Given the description of an element on the screen output the (x, y) to click on. 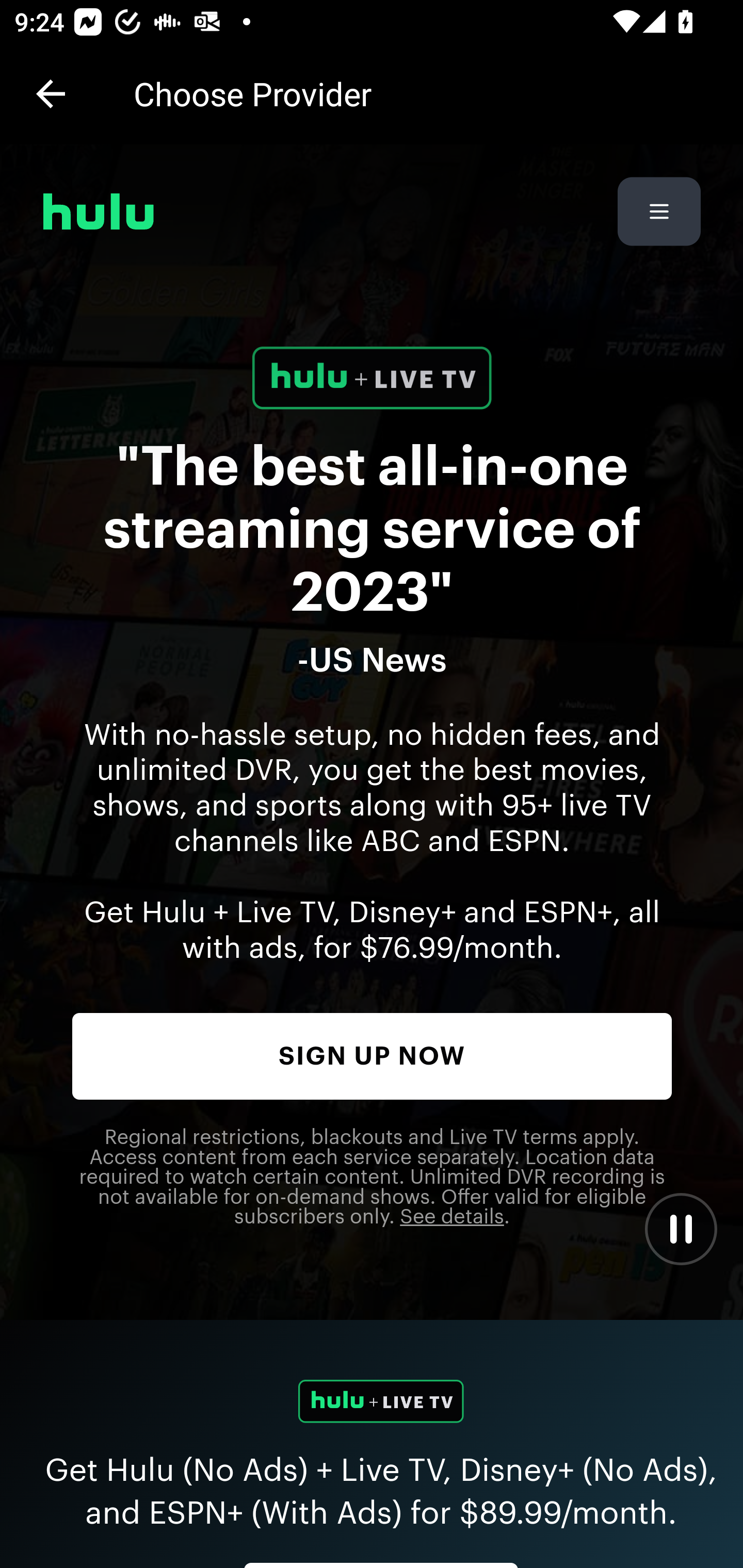
Navigate up (50, 93)
hulu (99, 211)
"The best all-in-one streaming service of 2023" (372, 529)
-US News (372, 660)
SIGN UP NOW (372, 1056)
Pause Video (680, 1228)
Click to see offer eligibility details. (451, 1218)
